Given the description of an element on the screen output the (x, y) to click on. 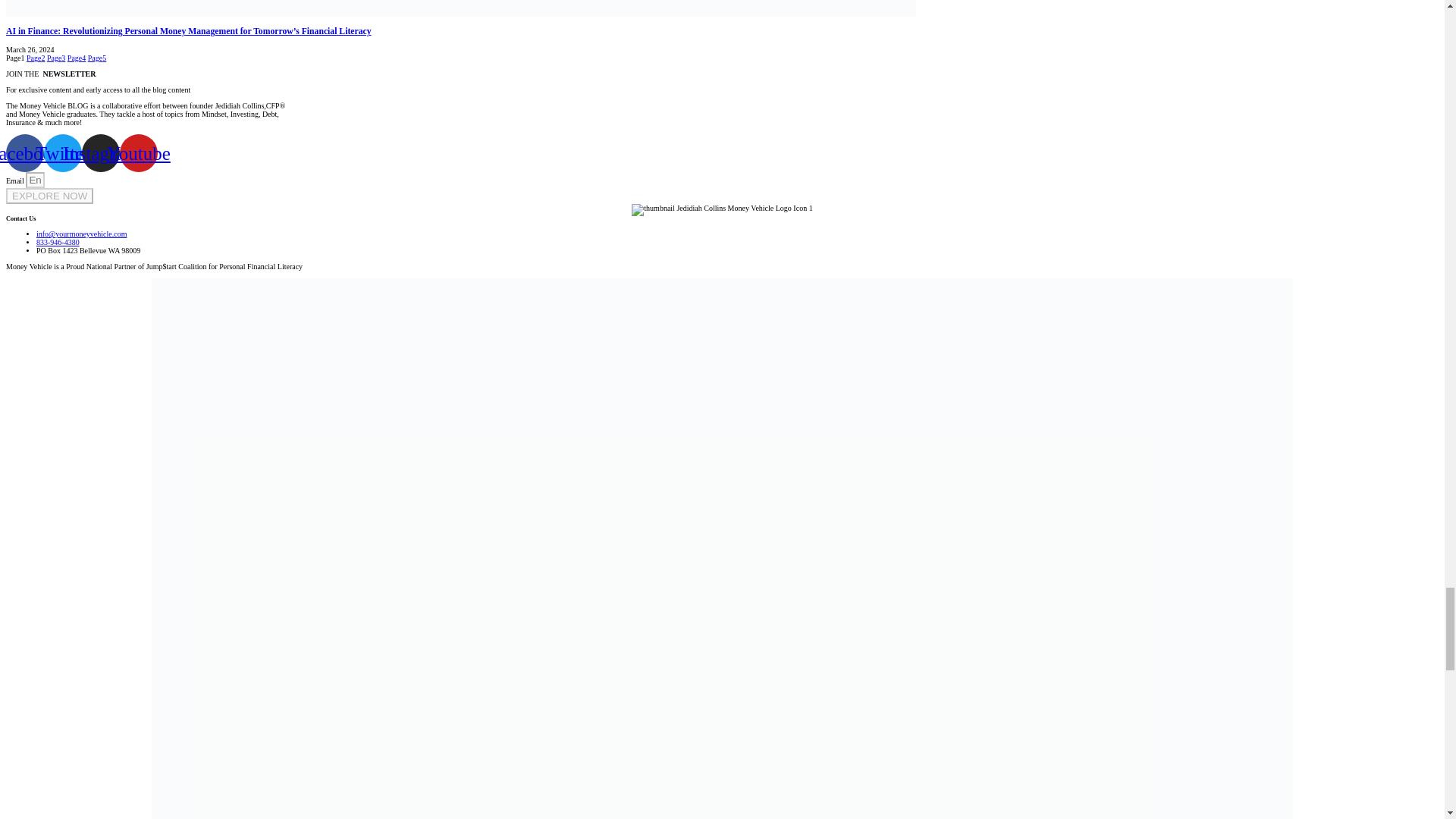
thumbnail Jedidiah Collins Money Vehicle Logo Icon 1 (721, 209)
